Given the description of an element on the screen output the (x, y) to click on. 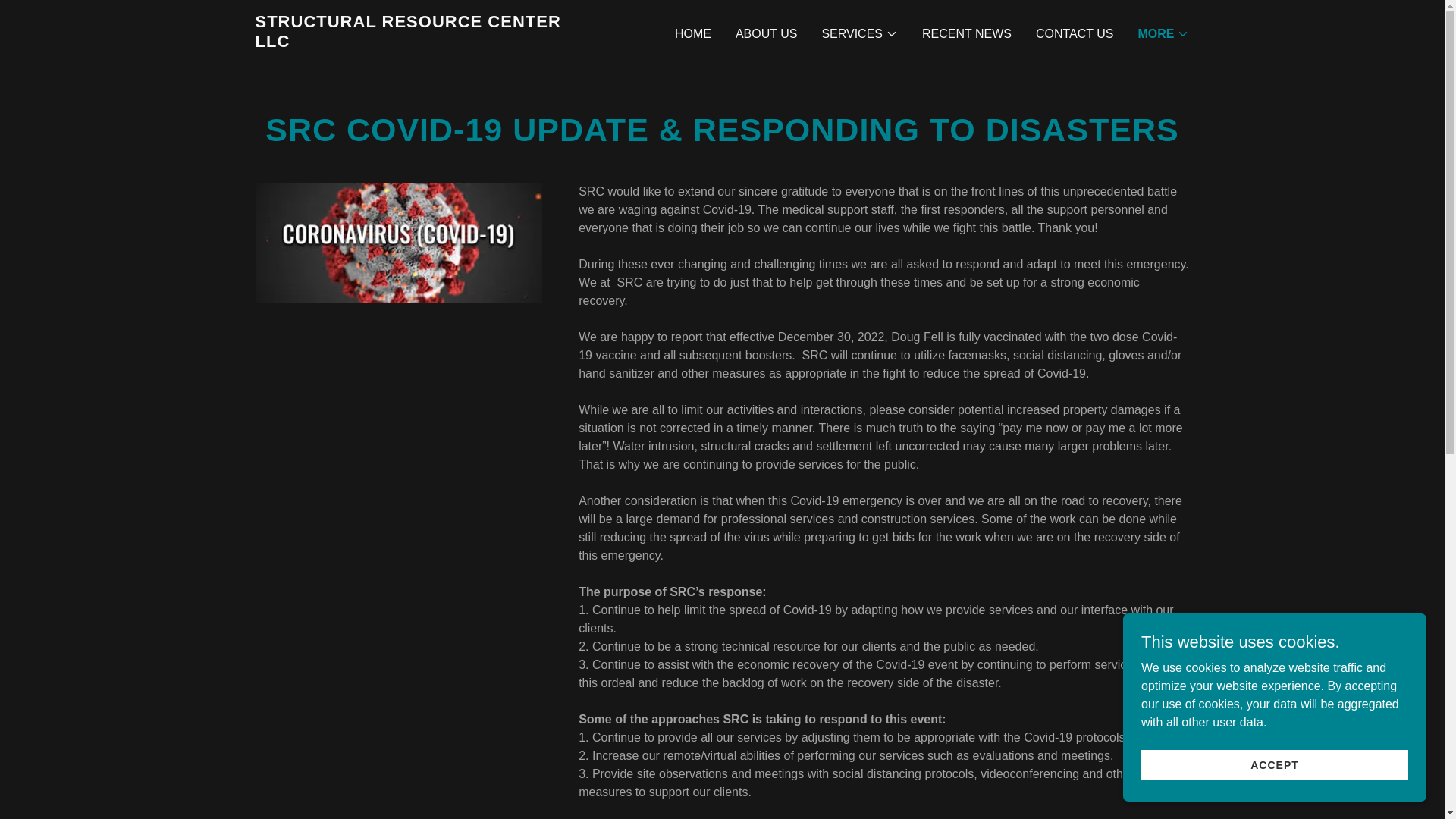
ABOUT US (766, 33)
SERVICES (859, 34)
MORE (1163, 35)
STRUCTURAL RESOURCE CENTER LLC (417, 42)
Structural Resource Center LLC (417, 42)
RECENT NEWS (966, 33)
CONTACT US (1074, 33)
HOME (692, 33)
